Given the description of an element on the screen output the (x, y) to click on. 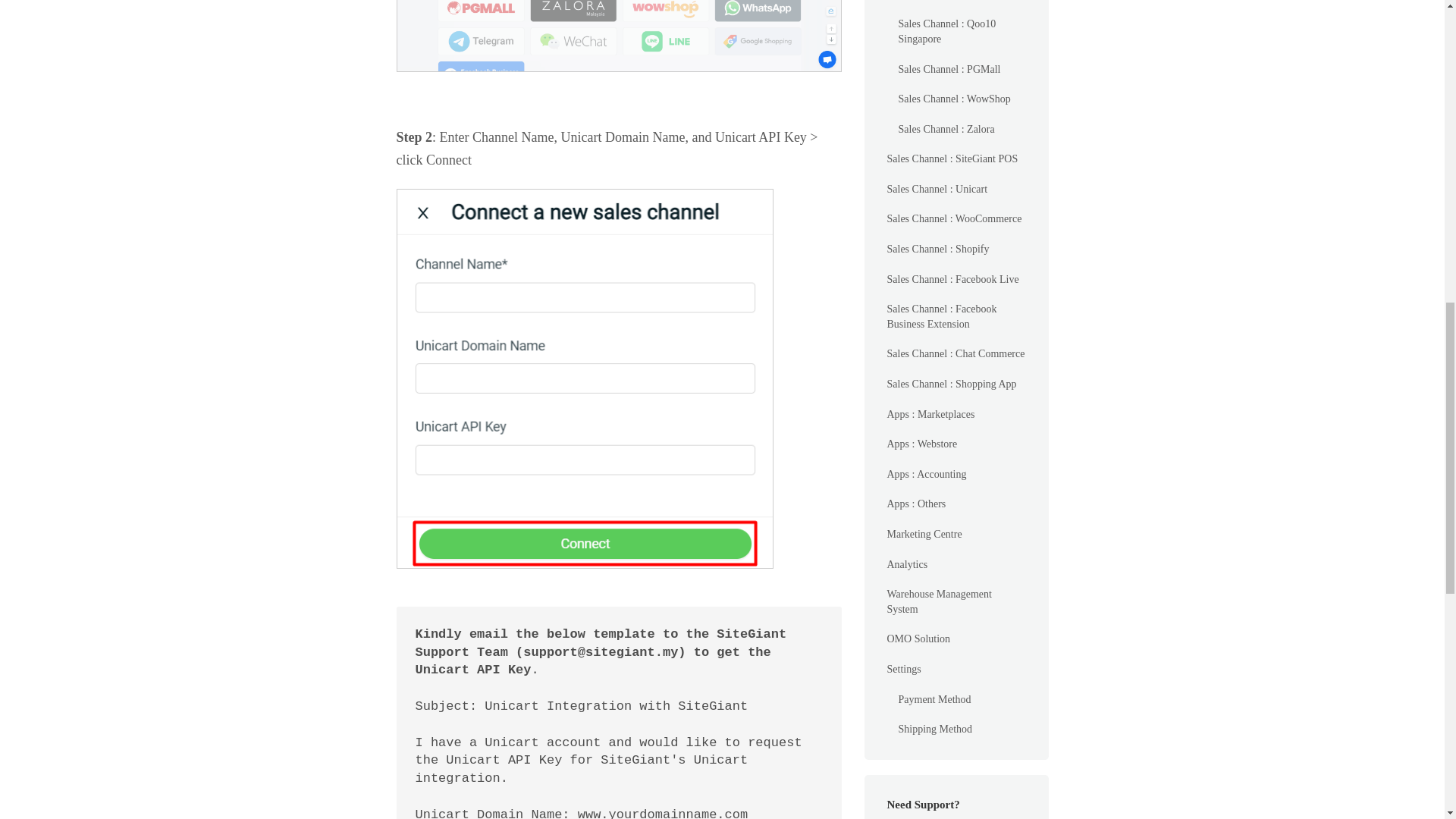
Apps : Marketplaces (930, 208)
Sales Channel : Chat Commerce (955, 147)
Apps : Accounting (926, 268)
Sales Channel : Shopify (938, 42)
Sales Channel : WooCommerce (954, 13)
Sales Channel : Facebook Live (952, 73)
Apps : Webstore (922, 237)
Sales Channel : Shopping App (951, 177)
Sales Channel : Facebook Business Extension (956, 109)
